Given the description of an element on the screen output the (x, y) to click on. 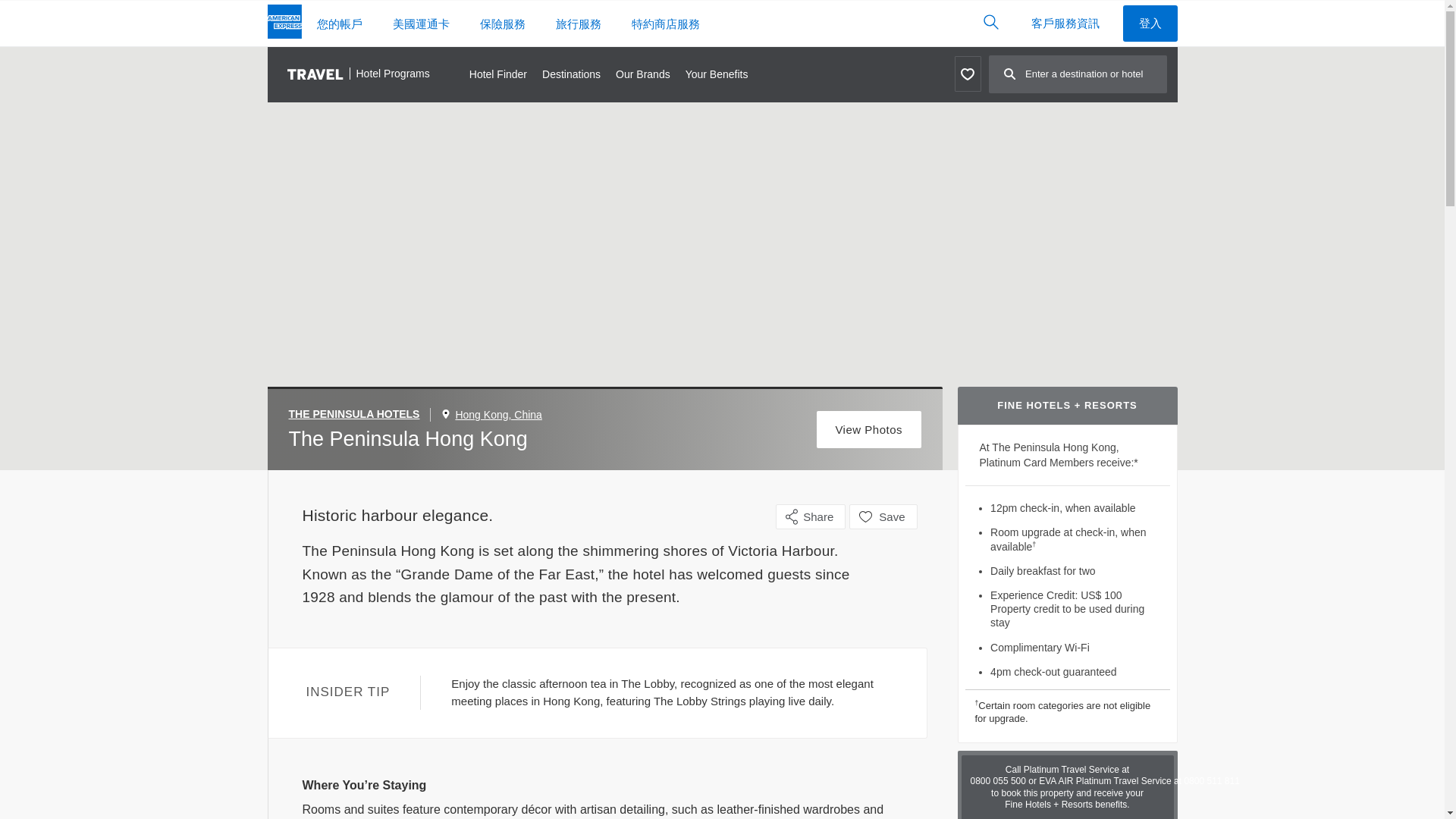
Search (990, 21)
Homepage (283, 23)
Favorites (966, 73)
